Given the description of an element on the screen output the (x, y) to click on. 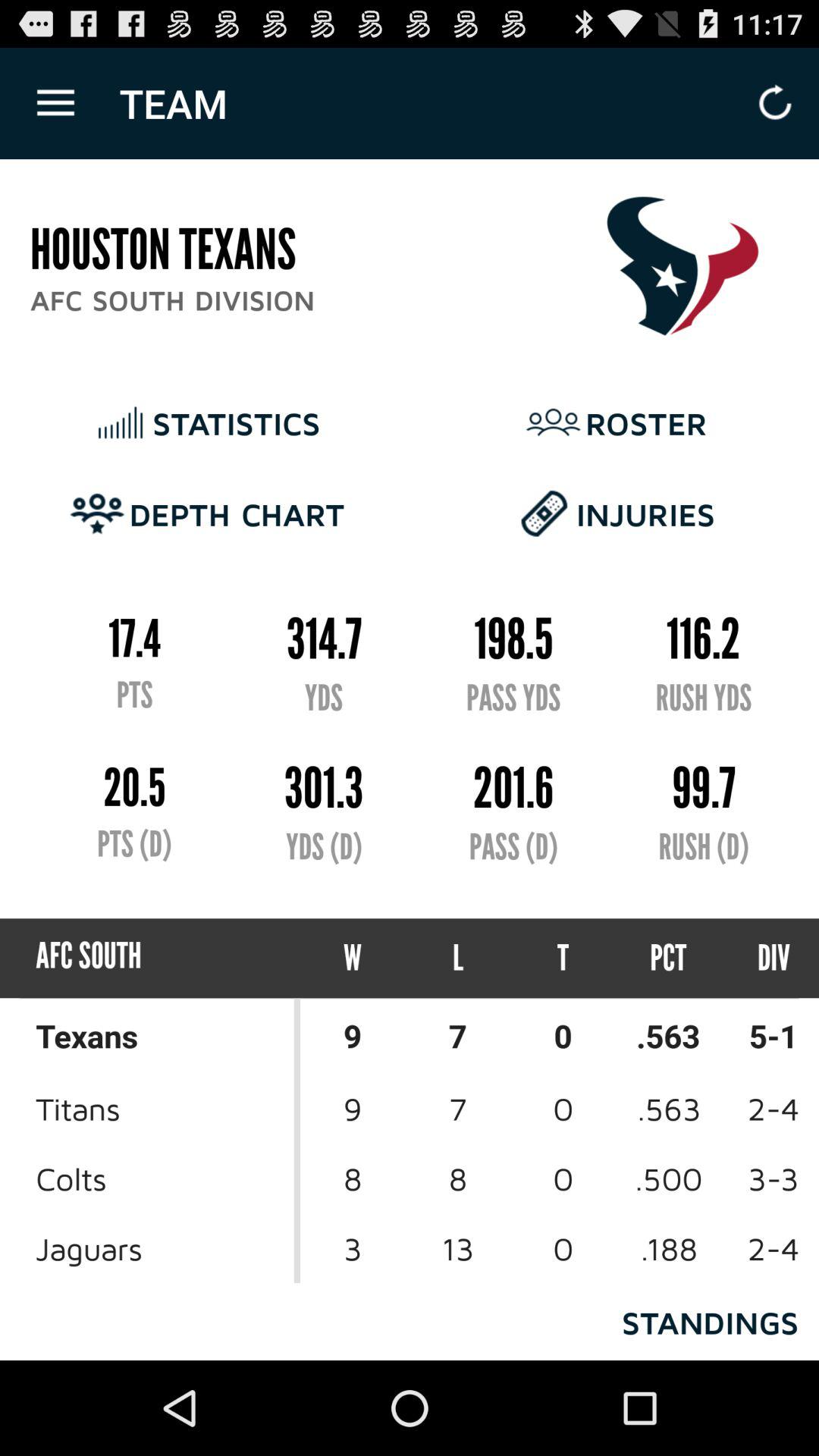
choose icon above houston texans icon (55, 103)
